Given the description of an element on the screen output the (x, y) to click on. 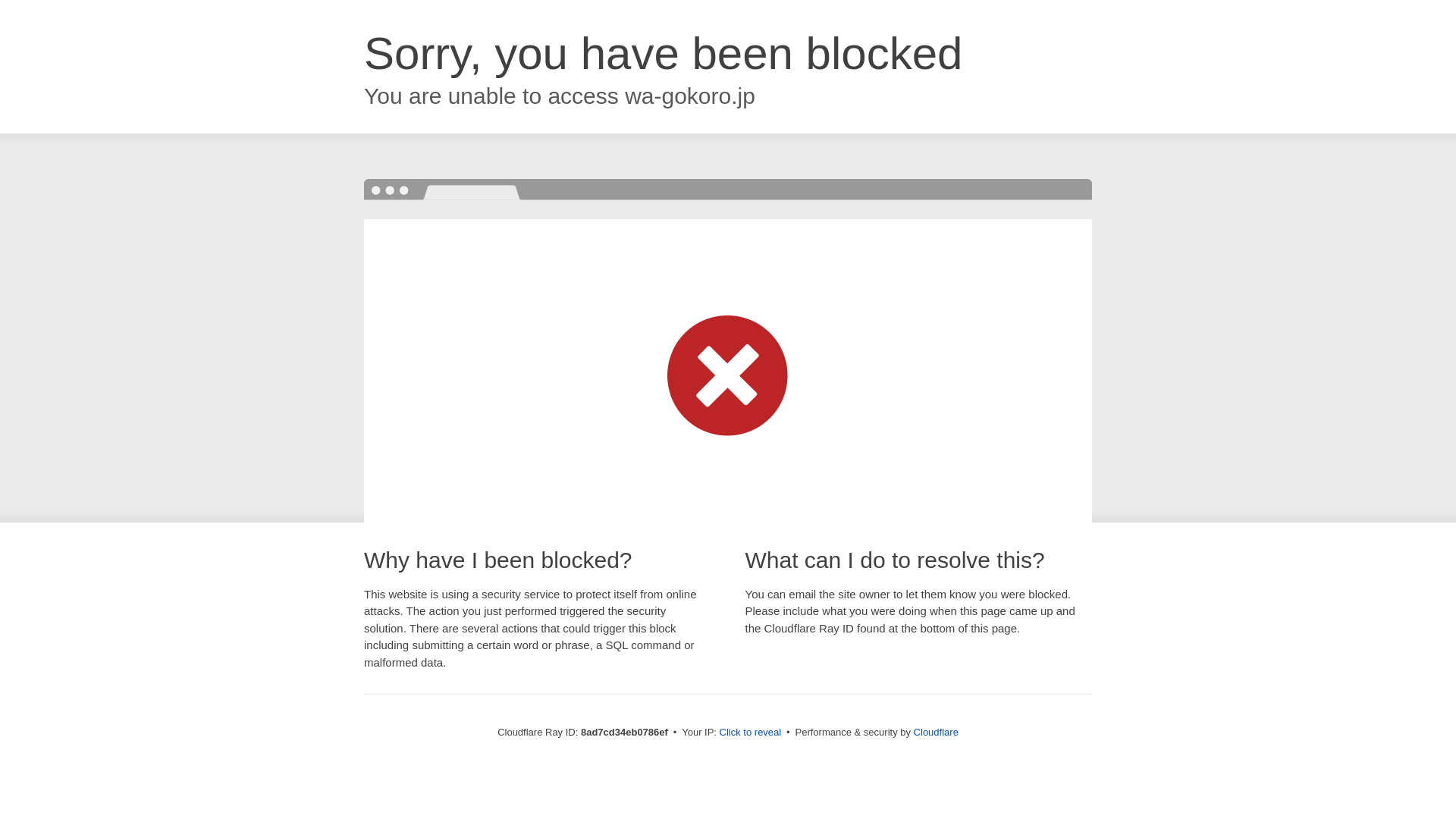
Cloudflare (936, 731)
Click to reveal (750, 732)
